Given the description of an element on the screen output the (x, y) to click on. 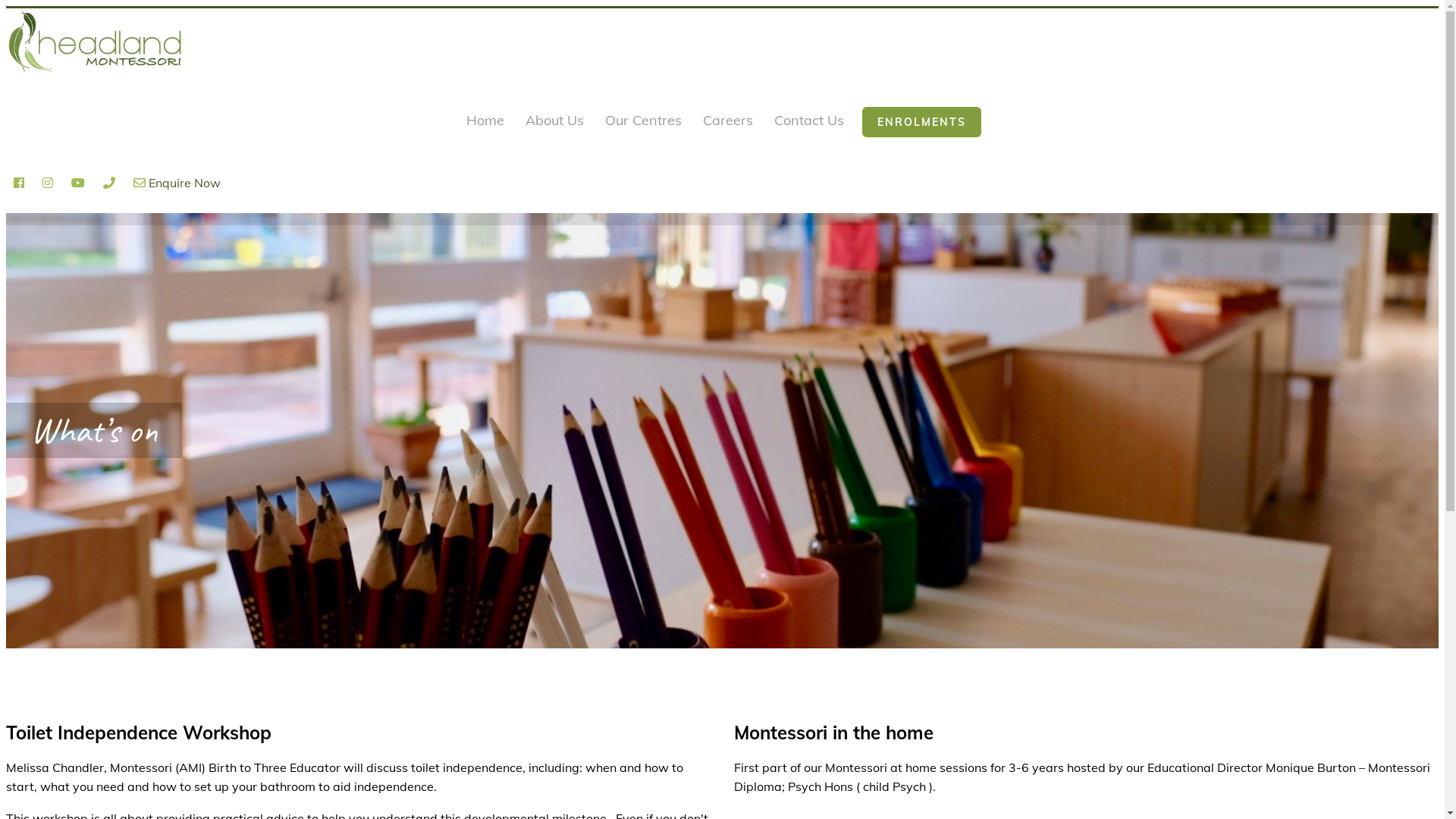
Contact Us Element type: text (809, 121)
ENROLMENTS Element type: text (921, 121)
Home Element type: text (485, 121)
Careers Element type: text (727, 121)
Enquire Now Element type: text (176, 182)
Our Centres Element type: text (643, 121)
About Us Element type: text (554, 121)
